Given the description of an element on the screen output the (x, y) to click on. 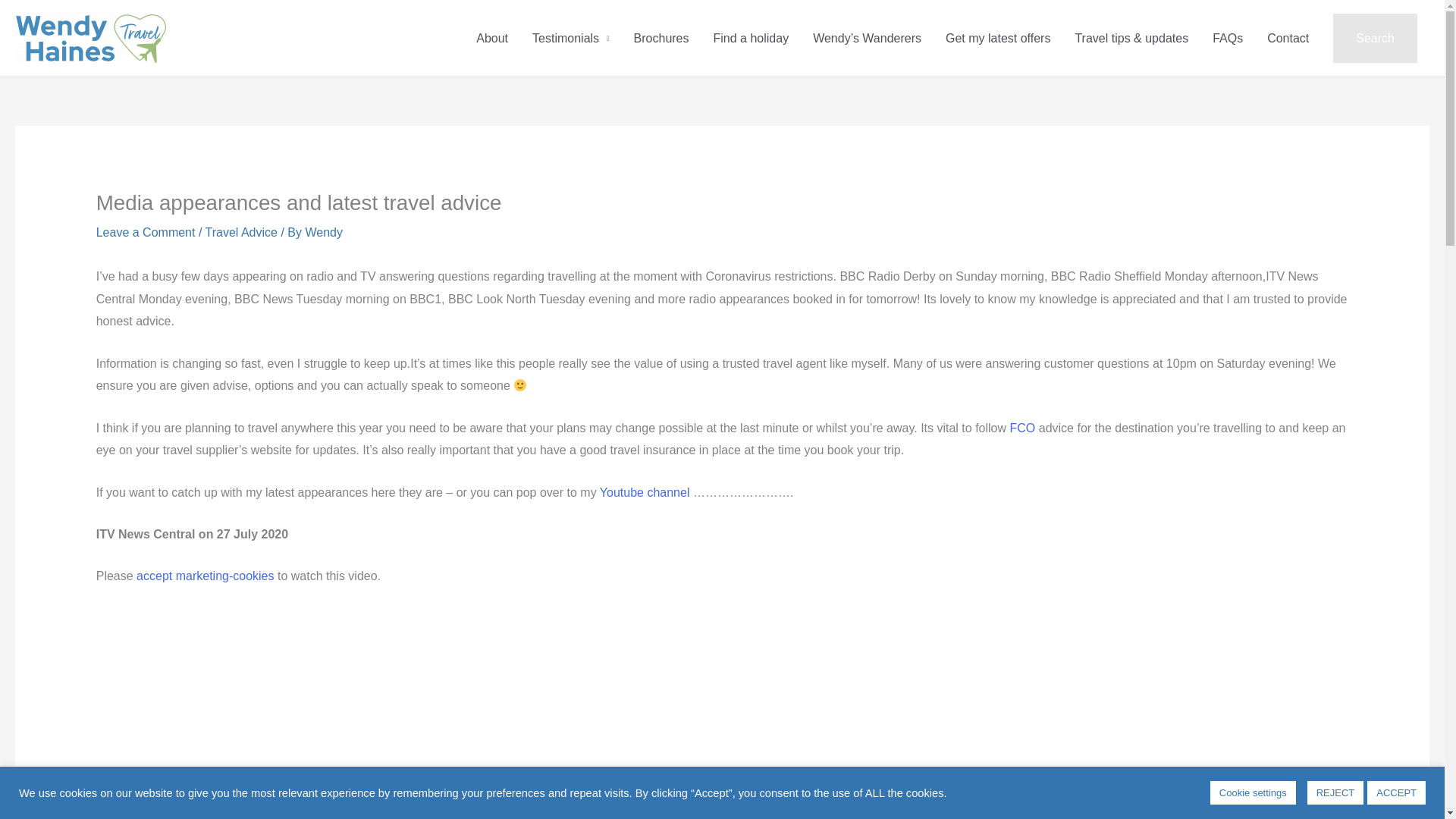
FCO (1022, 427)
Travel Advice (241, 232)
Youtube channel (644, 492)
Brochures (661, 38)
Leave a Comment (145, 232)
View all posts by Wendy (323, 232)
Find a holiday (751, 38)
Wendy (323, 232)
Get my latest offers (997, 38)
Testimonials (570, 38)
